Given the description of an element on the screen output the (x, y) to click on. 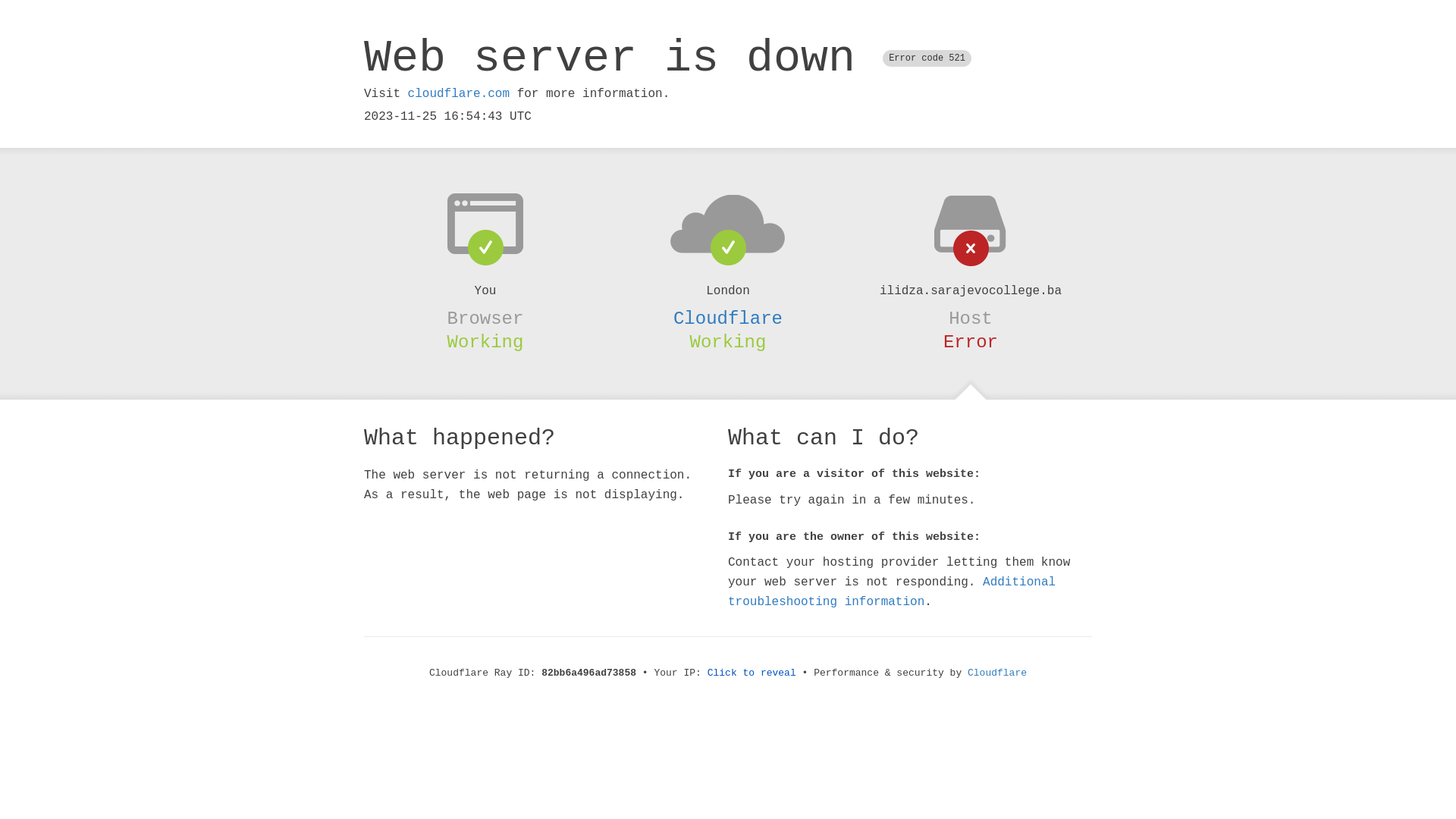
Additional troubleshooting information Element type: text (891, 591)
Cloudflare Element type: text (996, 672)
Click to reveal Element type: text (751, 672)
cloudflare.com Element type: text (458, 93)
Cloudflare Element type: text (727, 318)
